Given the description of an element on the screen output the (x, y) to click on. 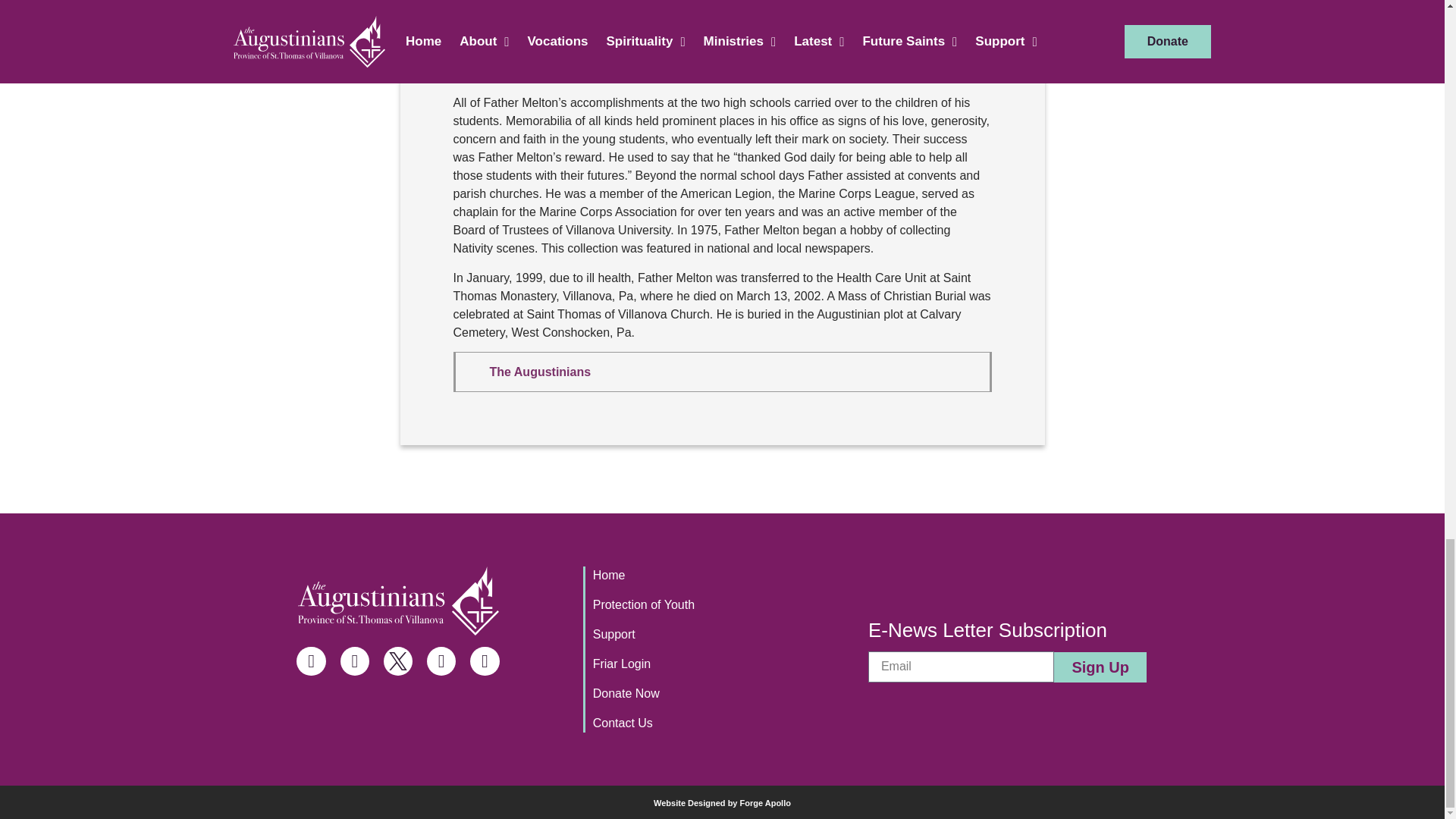
The Augustinians (540, 371)
